Given the description of an element on the screen output the (x, y) to click on. 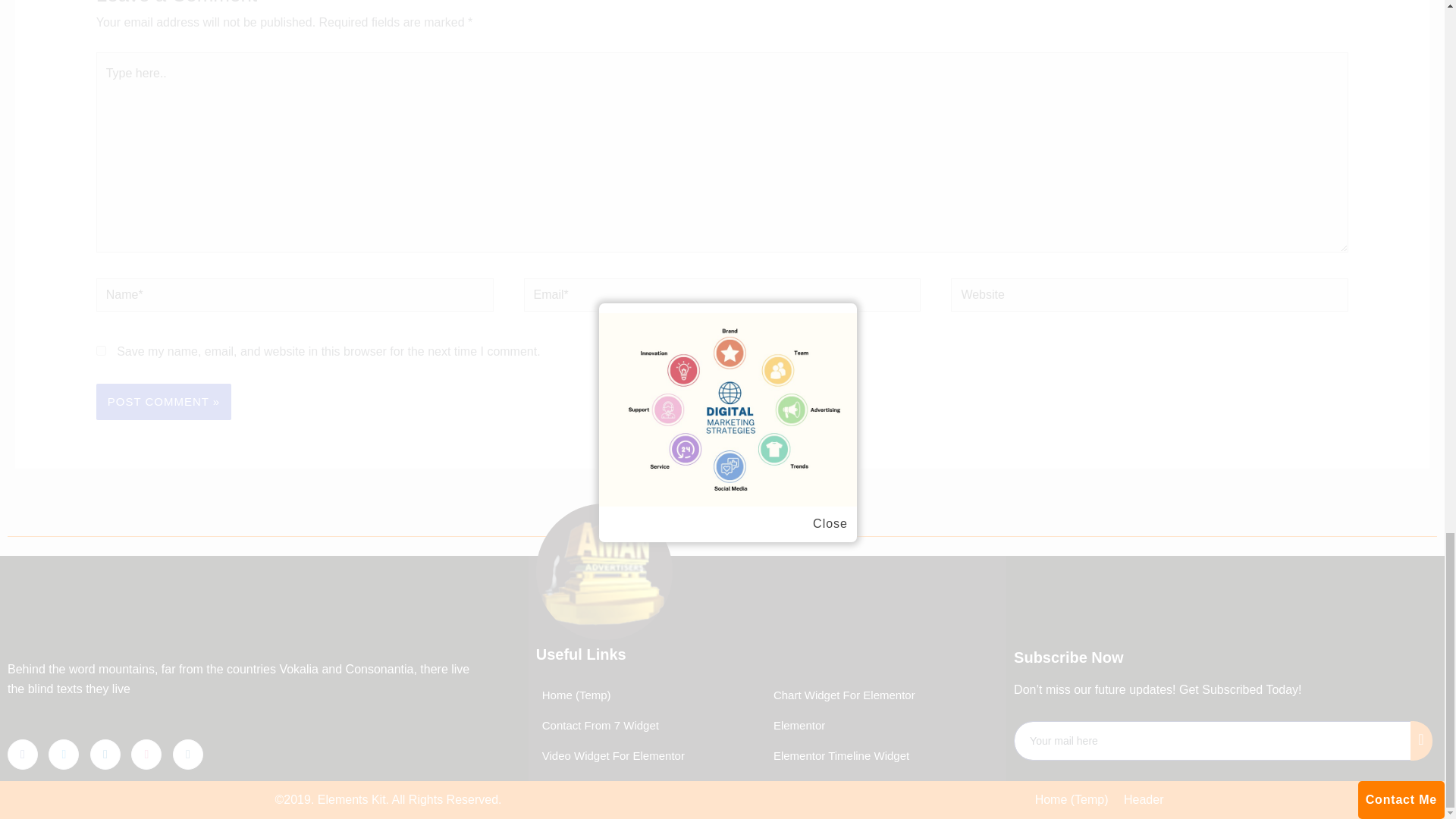
Chart Widget For Elementor (841, 695)
Video Widget For Elementor (609, 756)
Elementor (796, 725)
yes (101, 350)
Contact From 7 Widget (597, 725)
Elementor Timeline Widget (837, 756)
Header (1143, 799)
